Given the description of an element on the screen output the (x, y) to click on. 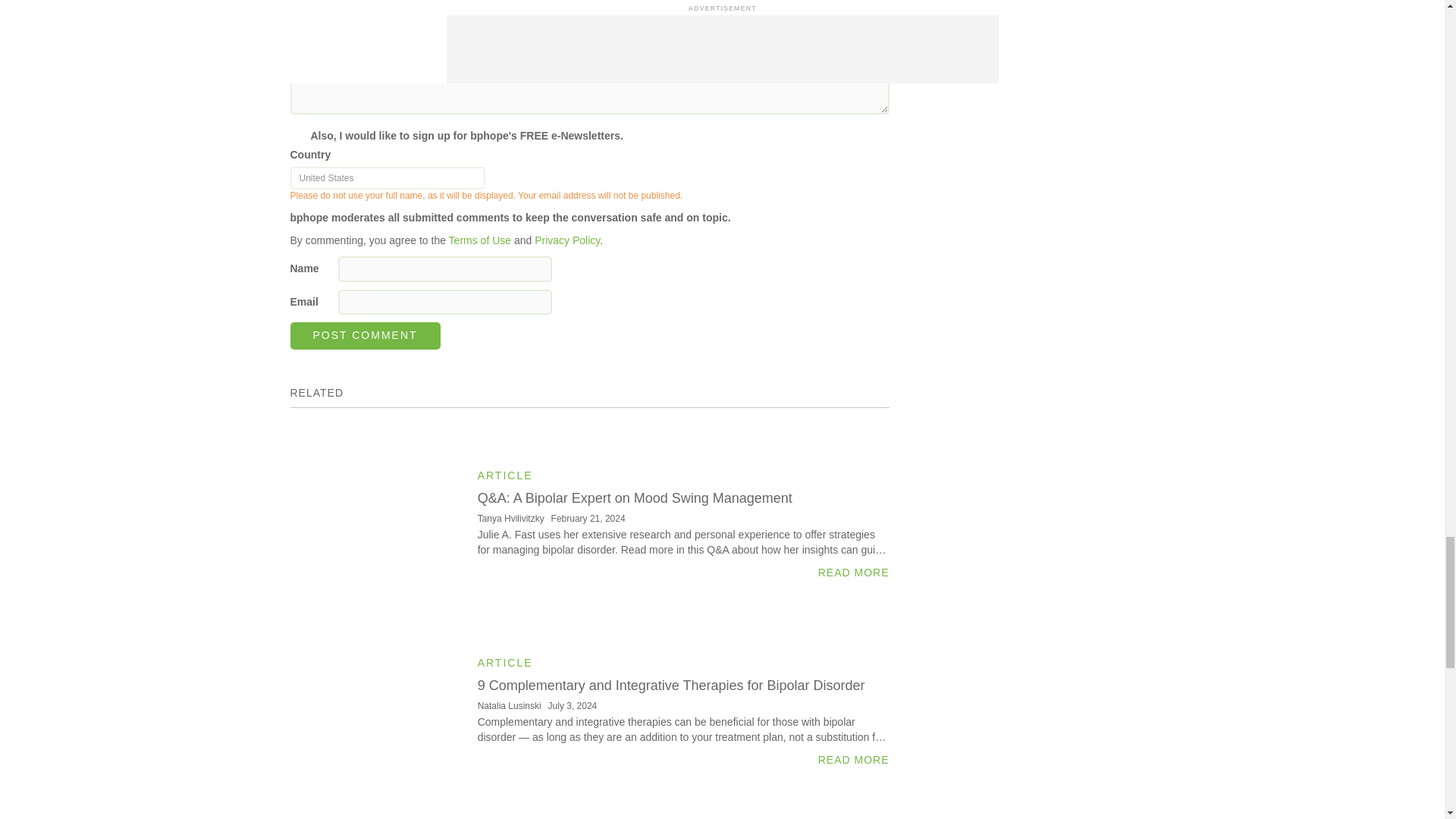
Post Comment (364, 335)
